Given the description of an element on the screen output the (x, y) to click on. 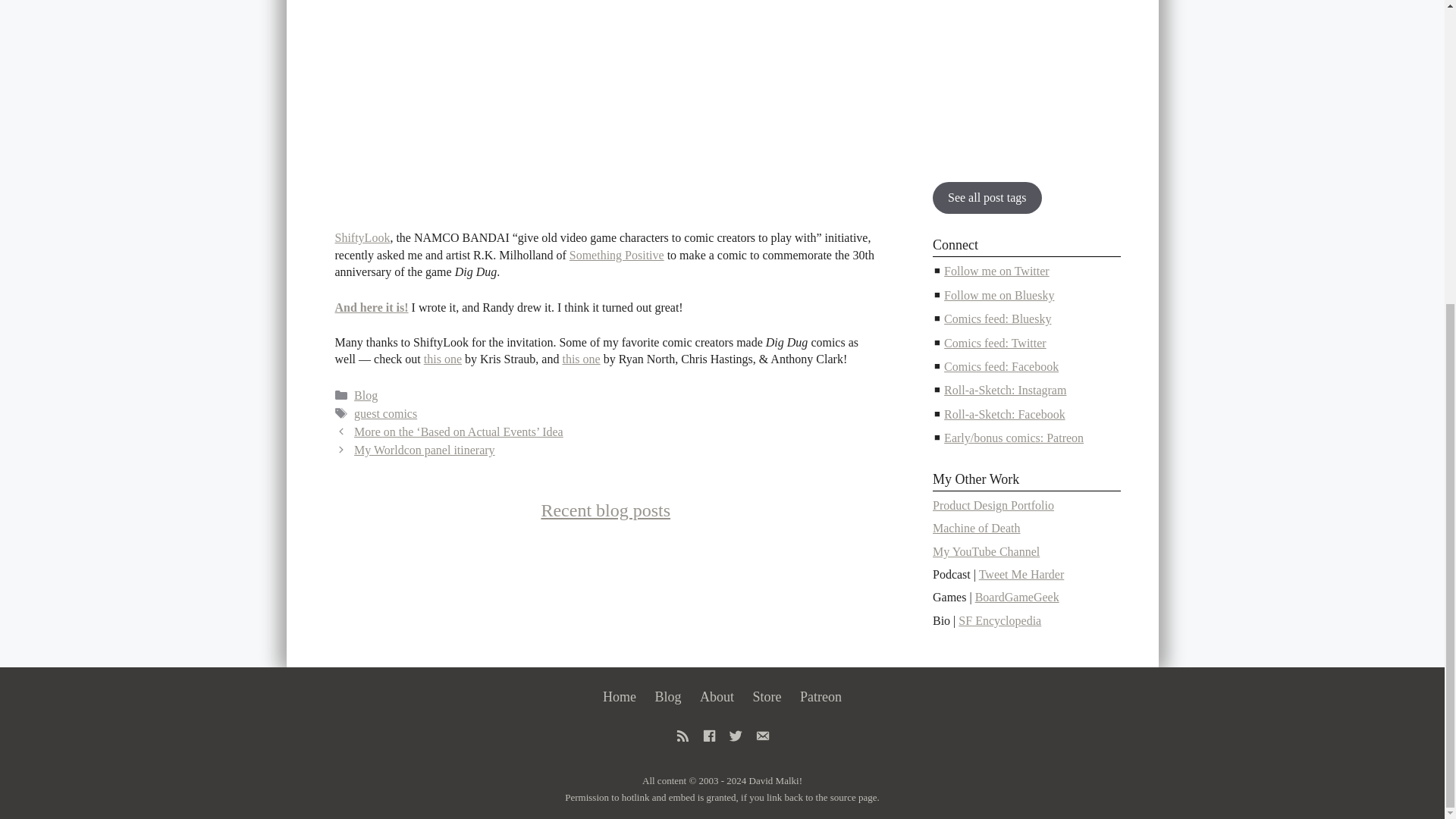
My YouTube Channel (986, 551)
Roll-a-Sketch: Facebook (1004, 413)
guest comics (384, 413)
gocomics-ad (1027, 79)
Roll-a-Sketch: Instagram (1004, 390)
Follow me on Bluesky (998, 295)
ShiftyLook (362, 237)
Recent blog posts (604, 510)
Comics feed: Twitter (994, 342)
Follow me on Twitter (996, 270)
